Given the description of an element on the screen output the (x, y) to click on. 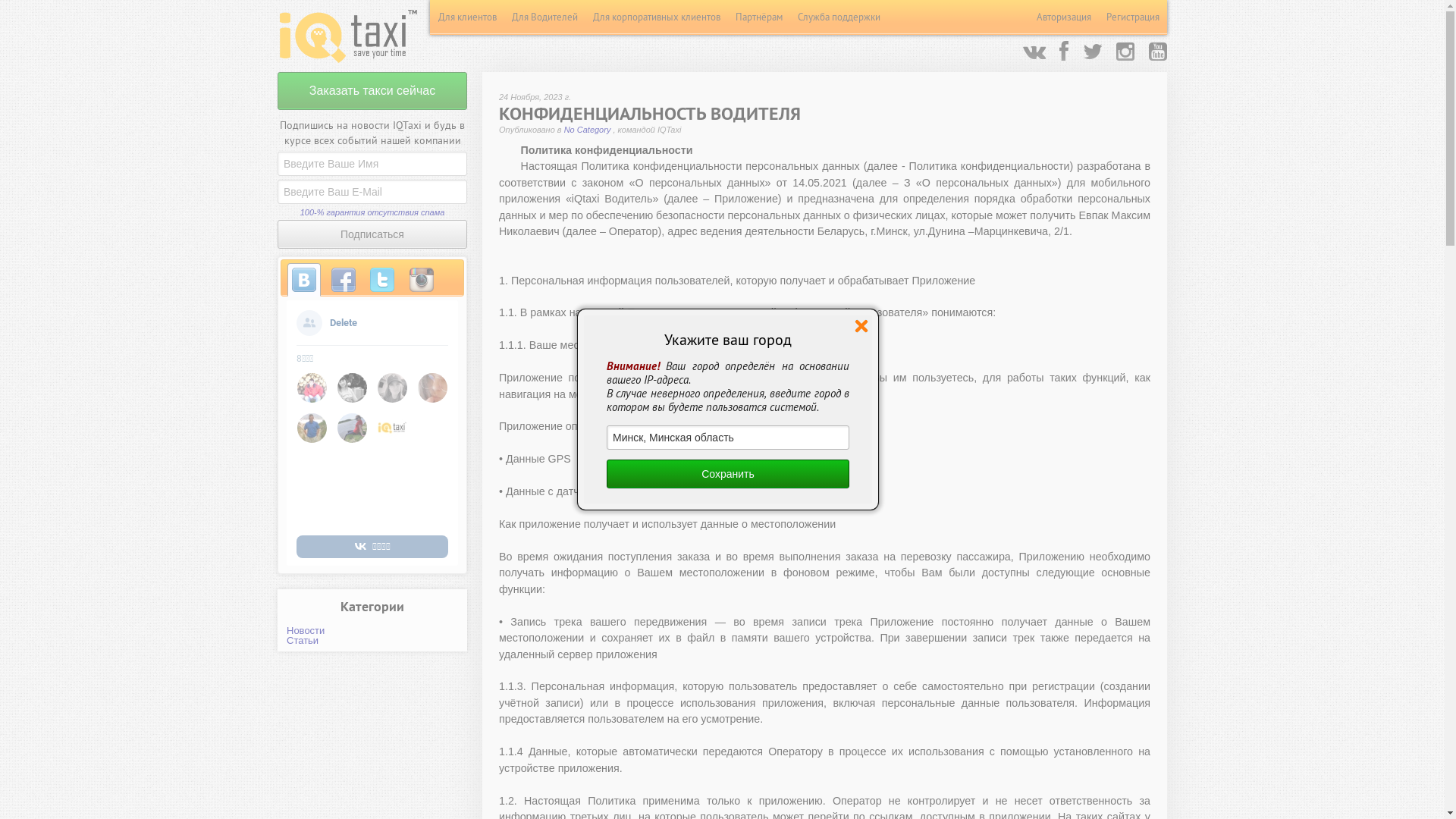
No Category Element type: text (588, 129)
